Given the description of an element on the screen output the (x, y) to click on. 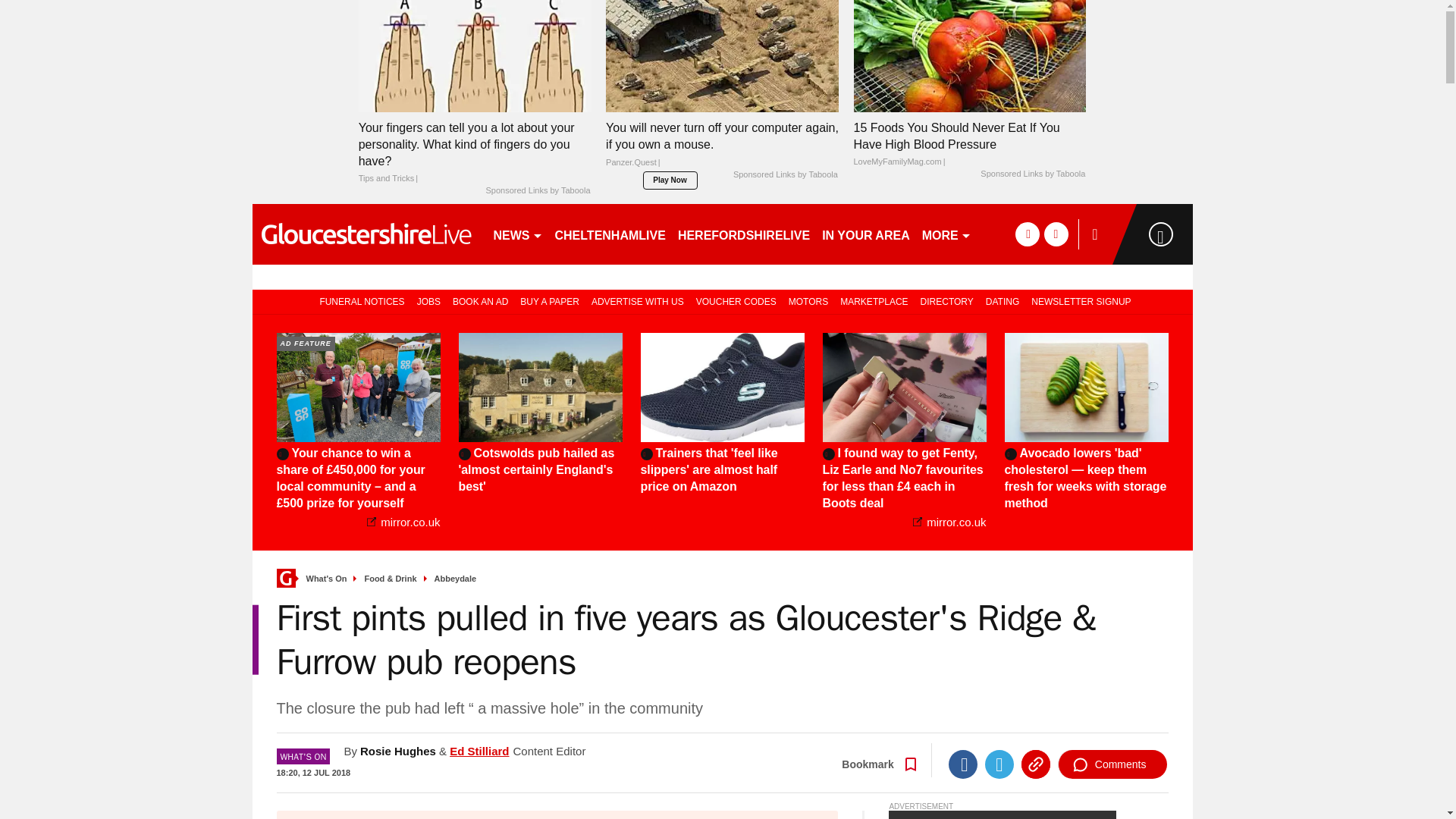
facebook (1026, 233)
gloucestershirelive (365, 233)
Sponsored Links by Taboola (785, 175)
IN YOUR AREA (865, 233)
Play Now (670, 180)
HEREFORDSHIRELIVE (743, 233)
Twitter (999, 764)
CHELTENHAMLIVE (609, 233)
Sponsored Links by Taboola (536, 190)
Facebook (962, 764)
MORE (945, 233)
Comments (1112, 764)
